Given the description of an element on the screen output the (x, y) to click on. 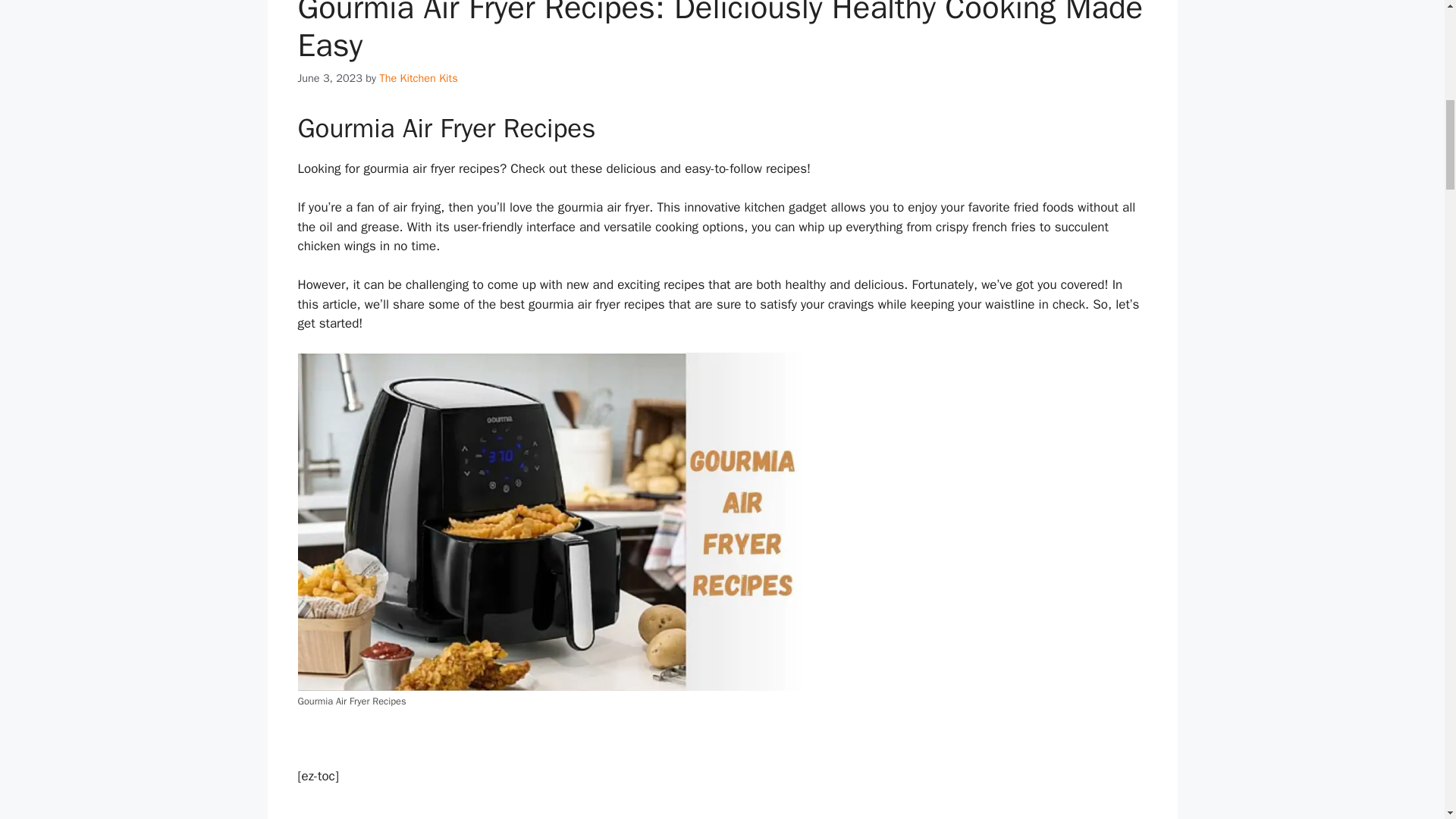
View all posts by The Kitchen Kits (417, 78)
The Kitchen Kits (417, 78)
Scroll back to top (1406, 720)
